Given the description of an element on the screen output the (x, y) to click on. 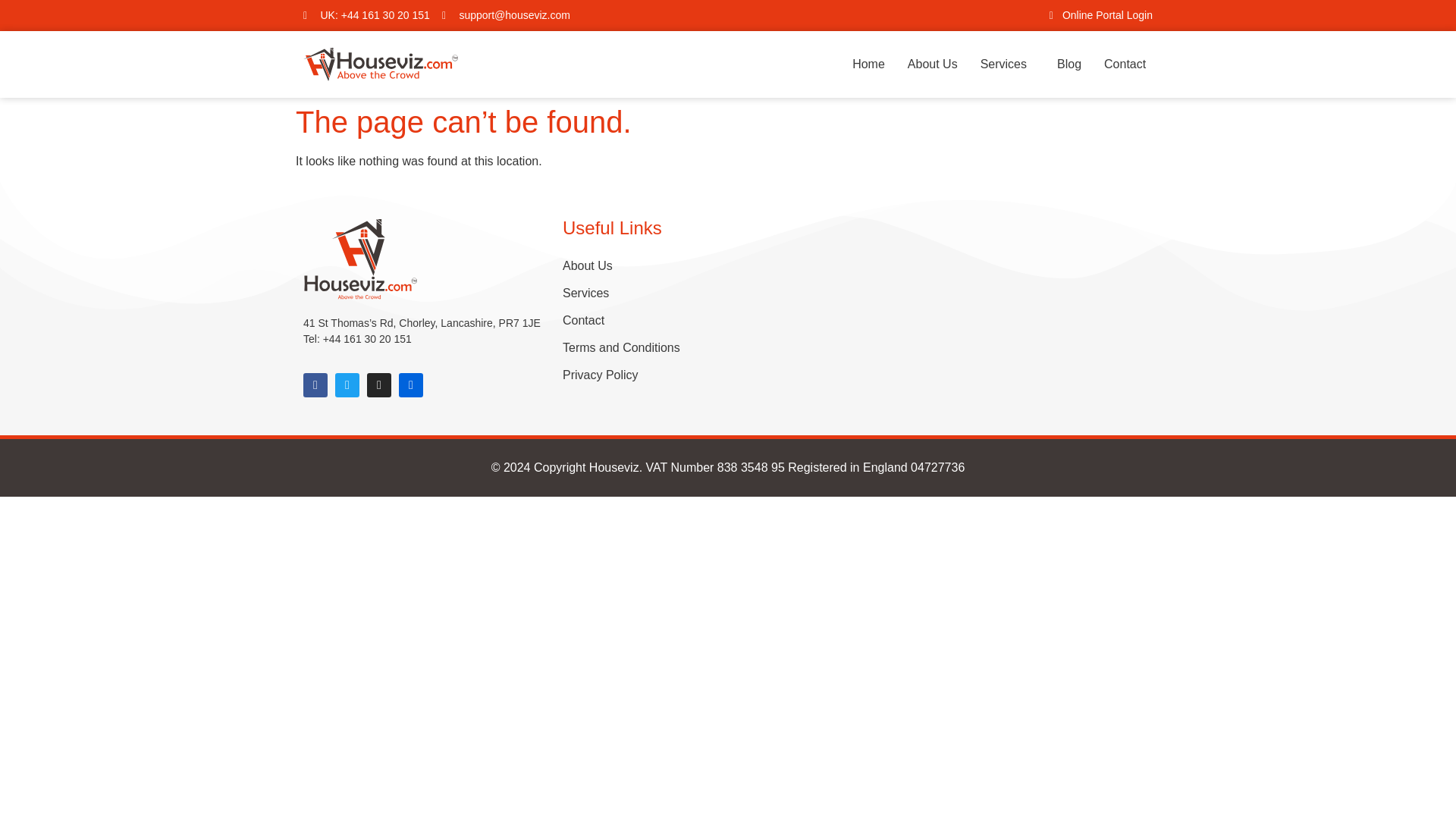
Online Portal Login (1096, 15)
Services (1007, 64)
About Us (932, 64)
Terms and Conditions (620, 347)
Services (620, 293)
Contact (1125, 64)
Contact (620, 320)
Privacy Policy (620, 375)
About Us (620, 266)
